Given the description of an element on the screen output the (x, y) to click on. 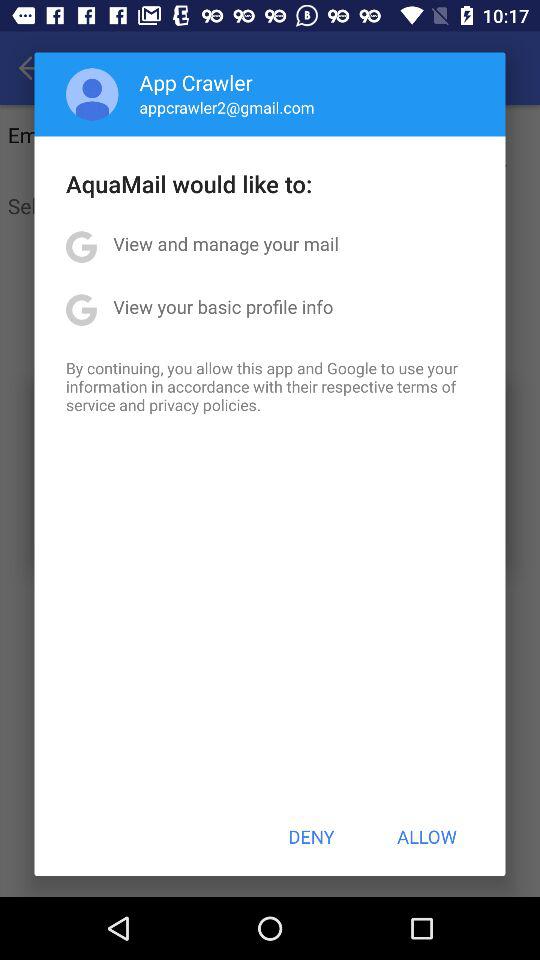
swipe until the app crawler item (195, 82)
